Given the description of an element on the screen output the (x, y) to click on. 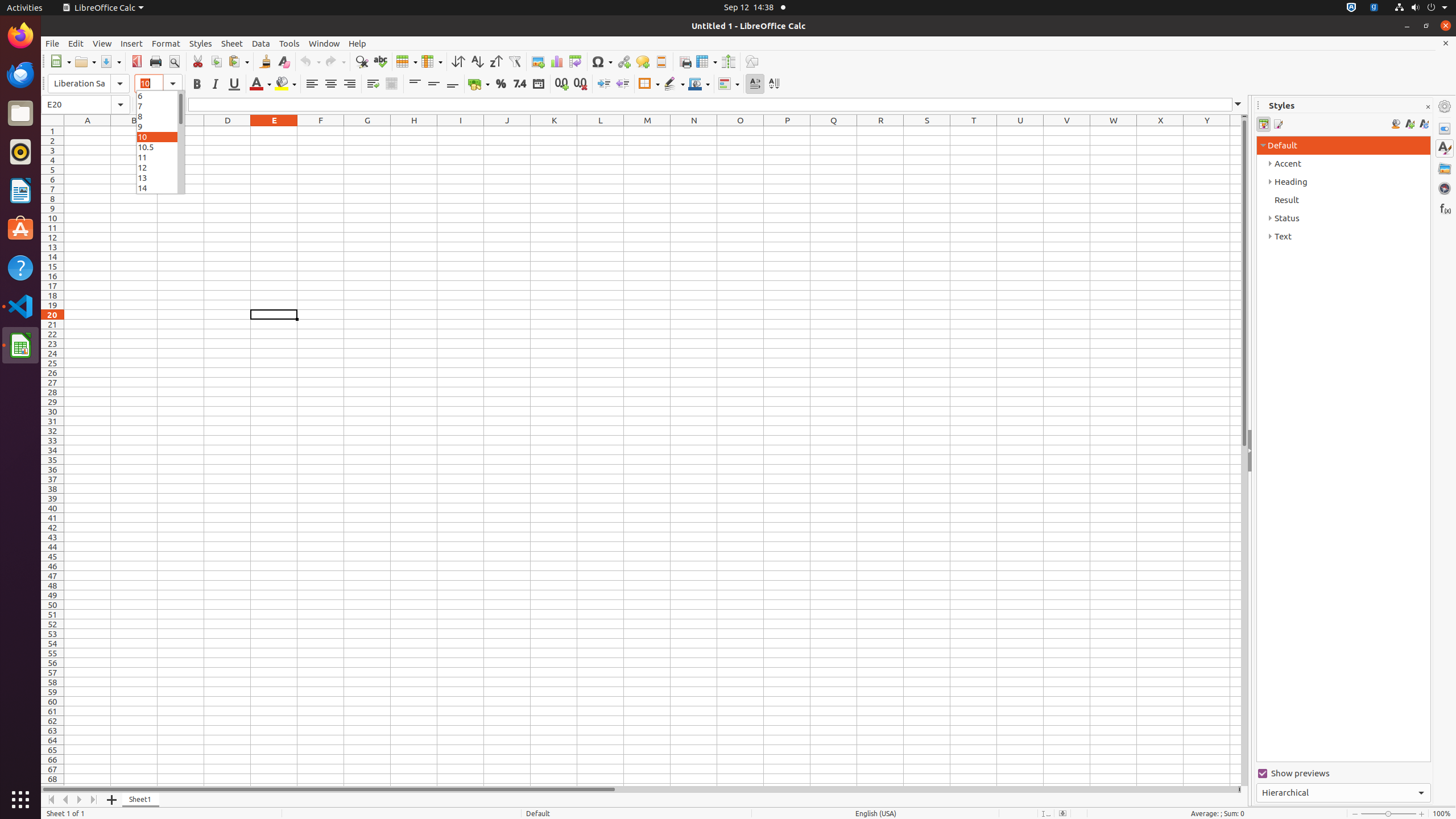
Row Element type: push-button (406, 61)
Rhythmbox Element type: push-button (20, 151)
Italic Element type: toggle-button (214, 83)
Sort Ascending Element type: push-button (476, 61)
Spelling Element type: push-button (379, 61)
